Given the description of an element on the screen output the (x, y) to click on. 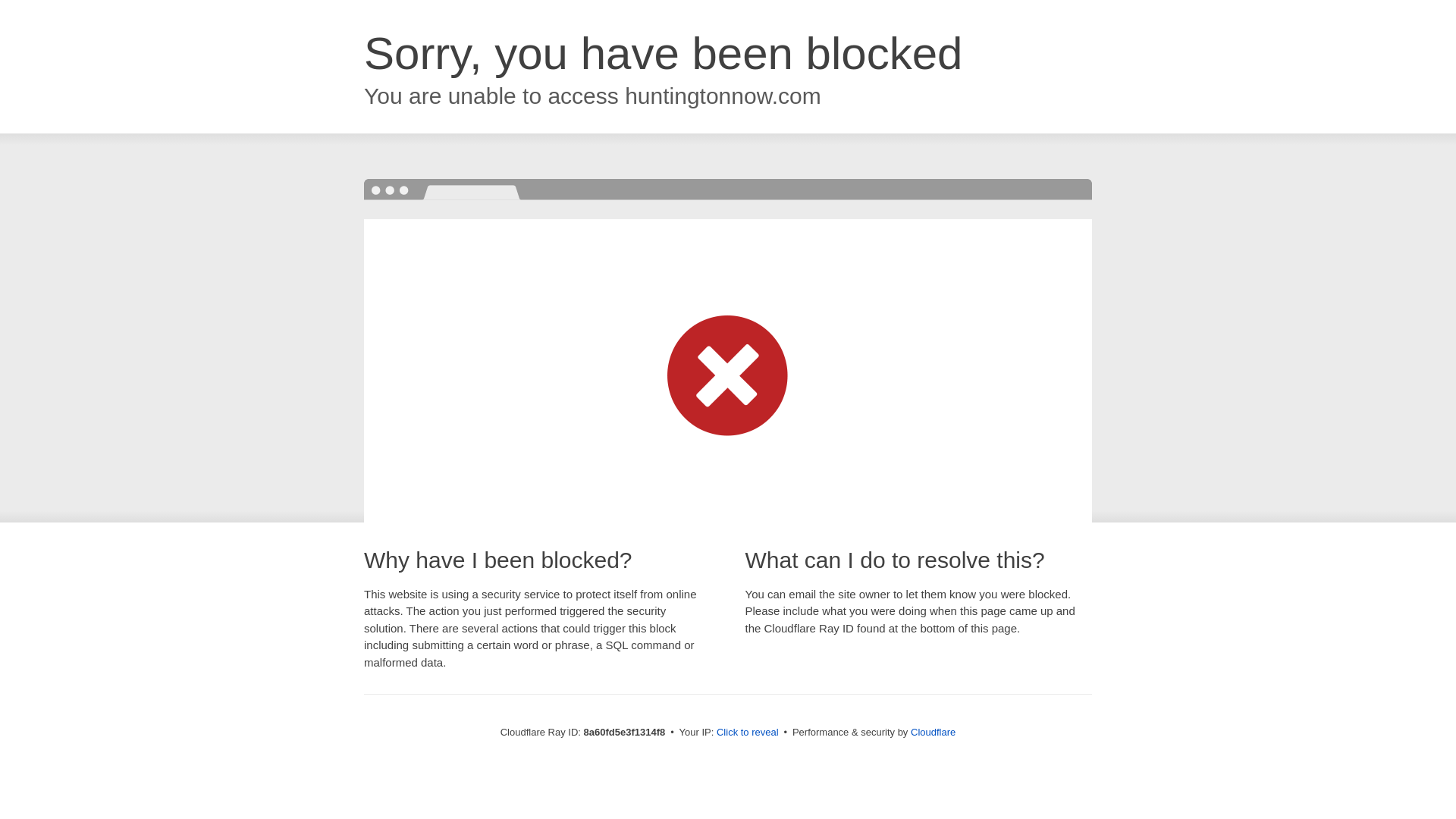
Click to reveal (747, 732)
Cloudflare (933, 731)
